Given the description of an element on the screen output the (x, y) to click on. 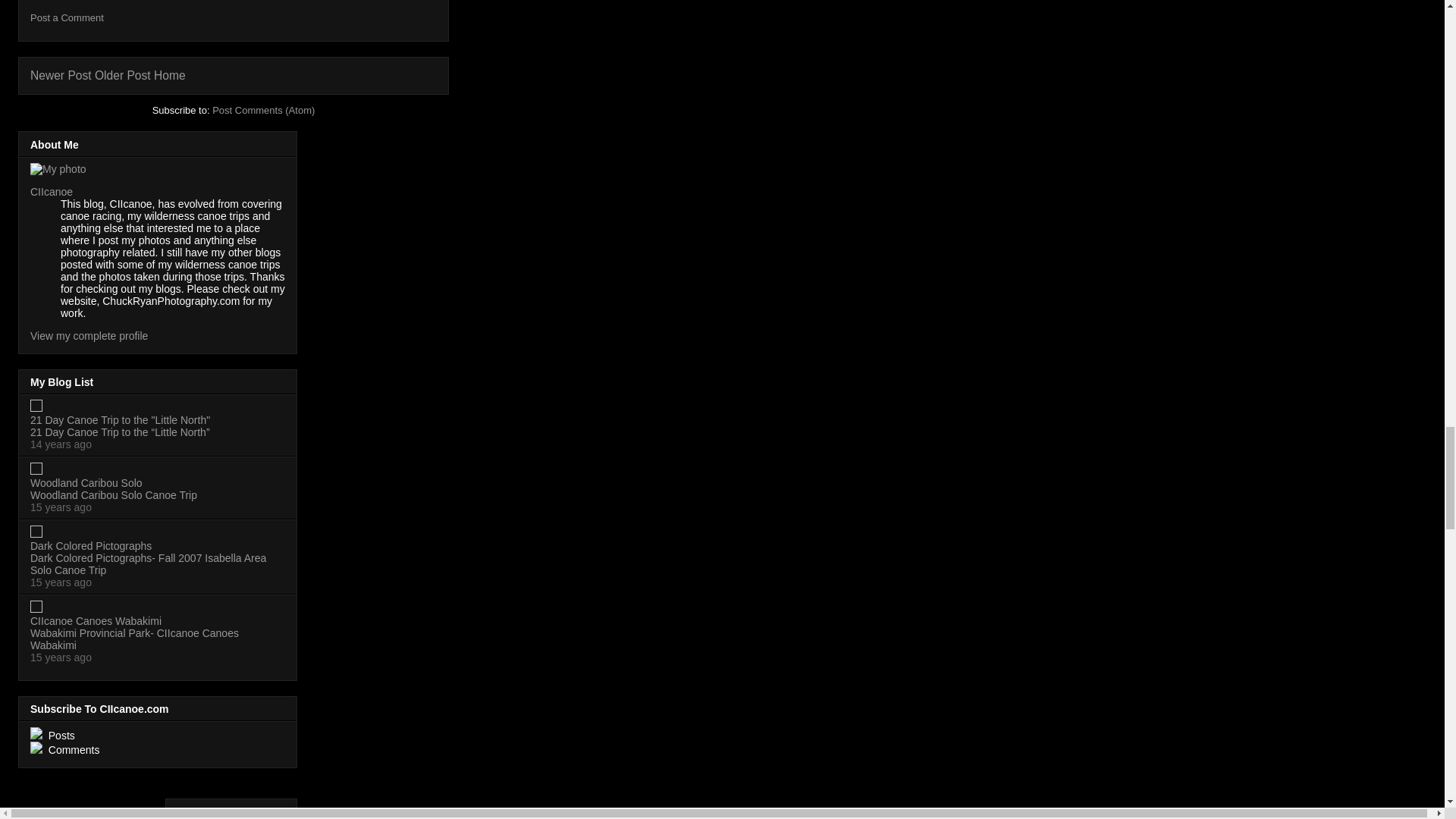
CIIcanoe Canoes Wabakimi (95, 621)
Woodland Caribou Solo Canoe Trip (113, 494)
View my complete profile (89, 336)
Woodland Caribou Solo (86, 482)
Newer Post (60, 74)
Older Post (122, 74)
21 Day Canoe Trip to the "Little North" (119, 419)
Older Post (122, 74)
Home (170, 74)
Newer Post (60, 74)
Post a Comment (66, 17)
Dark Colored Pictographs (90, 545)
Wabakimi Provincial Park- CIIcanoe Canoes Wabakimi (134, 639)
CIIcanoe (51, 191)
